Given the description of an element on the screen output the (x, y) to click on. 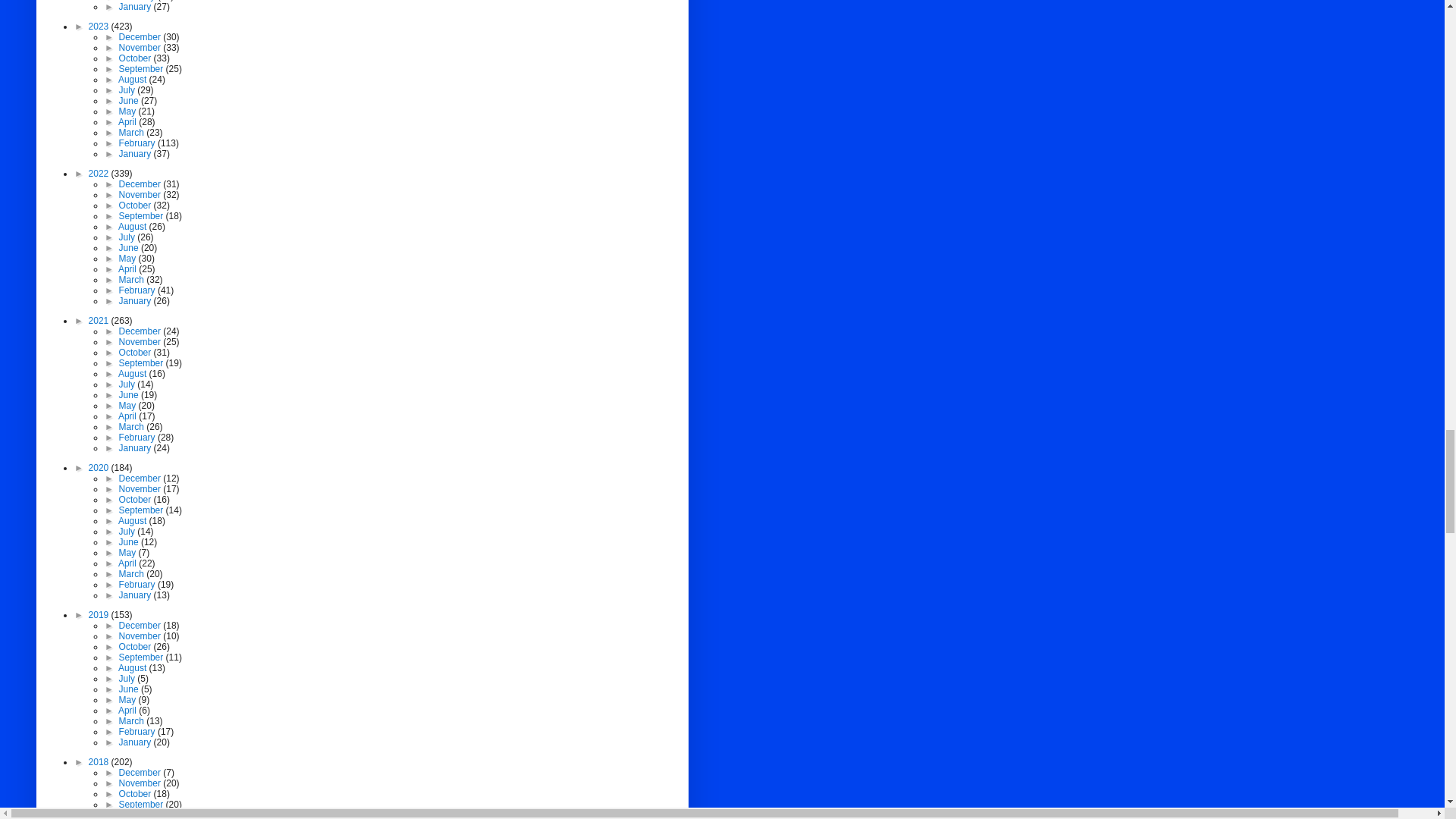
2023 (100, 26)
January (136, 6)
February (138, 0)
